Given the description of an element on the screen output the (x, y) to click on. 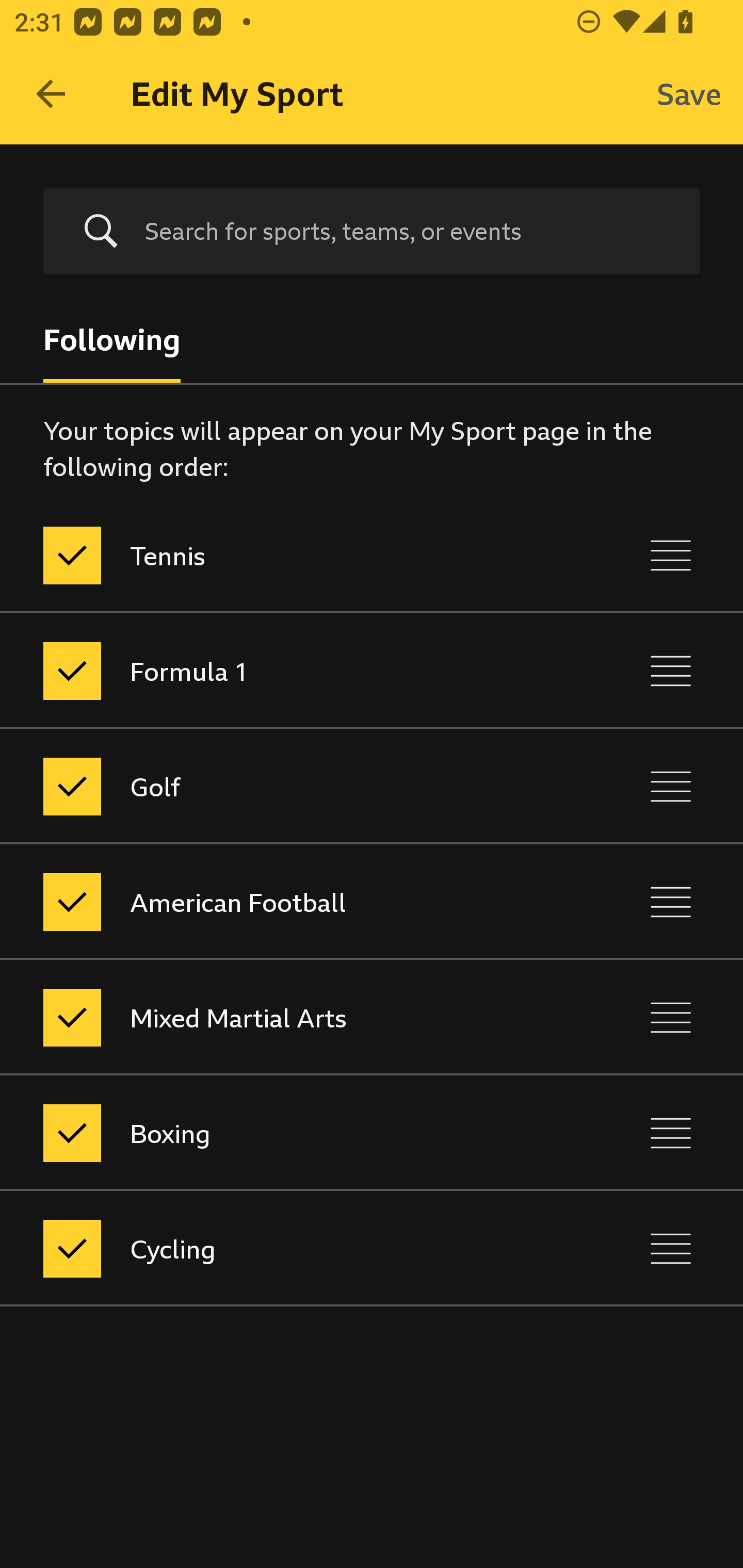
Navigate up (50, 93)
Save (689, 93)
Search for sports, teams, or events (371, 231)
Search for sports, teams, or events (407, 231)
Tennis (284, 555)
Reorder Tennis (670, 555)
Formula 1 (284, 671)
Reorder Formula 1 (670, 671)
Golf (284, 786)
Reorder Golf (670, 786)
American Football (284, 901)
Reorder American Football (670, 901)
Mixed Martial Arts (284, 1017)
Reorder Mixed Martial Arts (670, 1017)
Boxing (284, 1133)
Reorder Boxing (670, 1133)
Cycling (284, 1248)
Reorder Cycling (670, 1248)
